Given the description of an element on the screen output the (x, y) to click on. 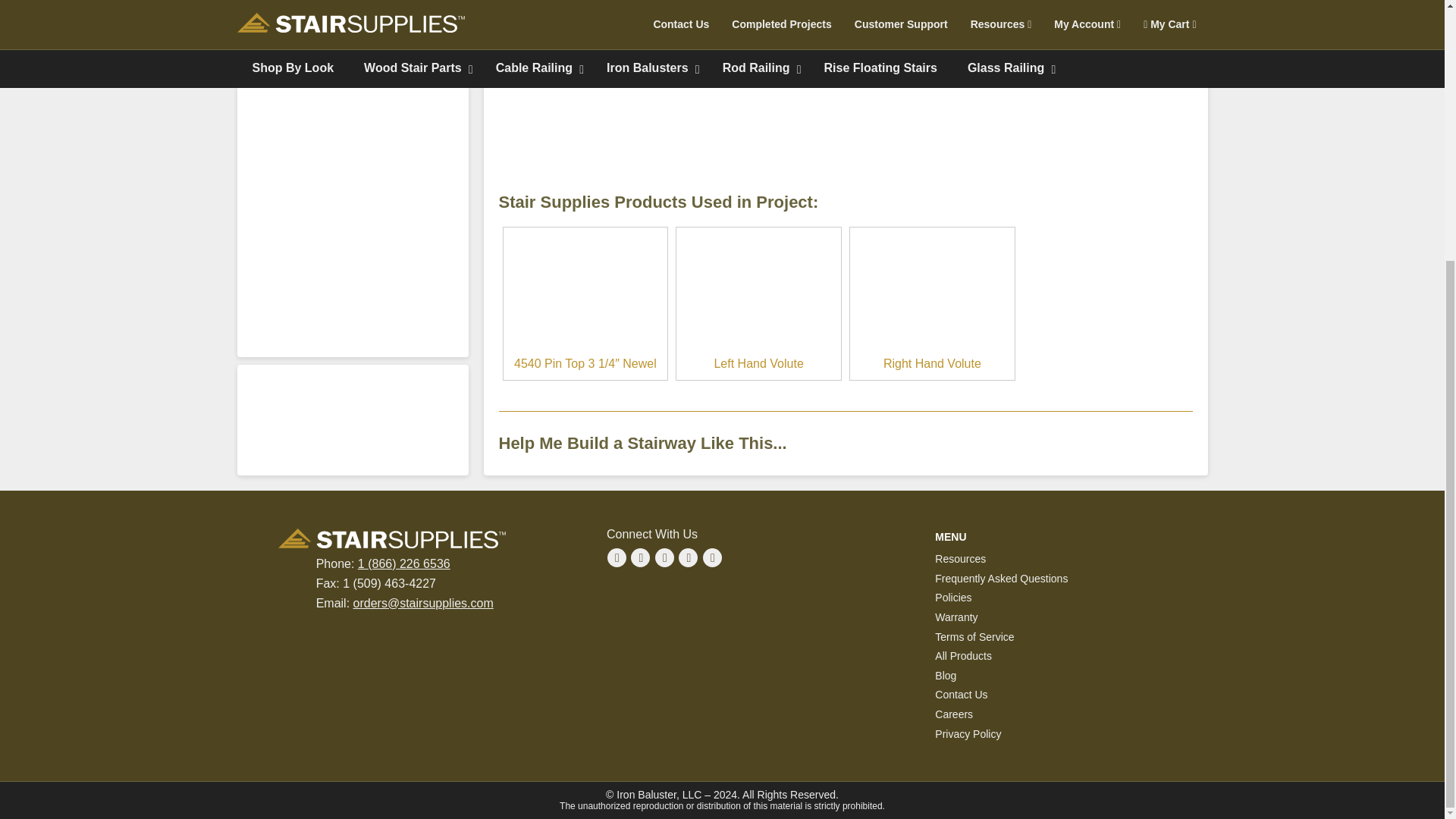
Ornate Scroll Series Iron Balusters (668, 61)
